Given the description of an element on the screen output the (x, y) to click on. 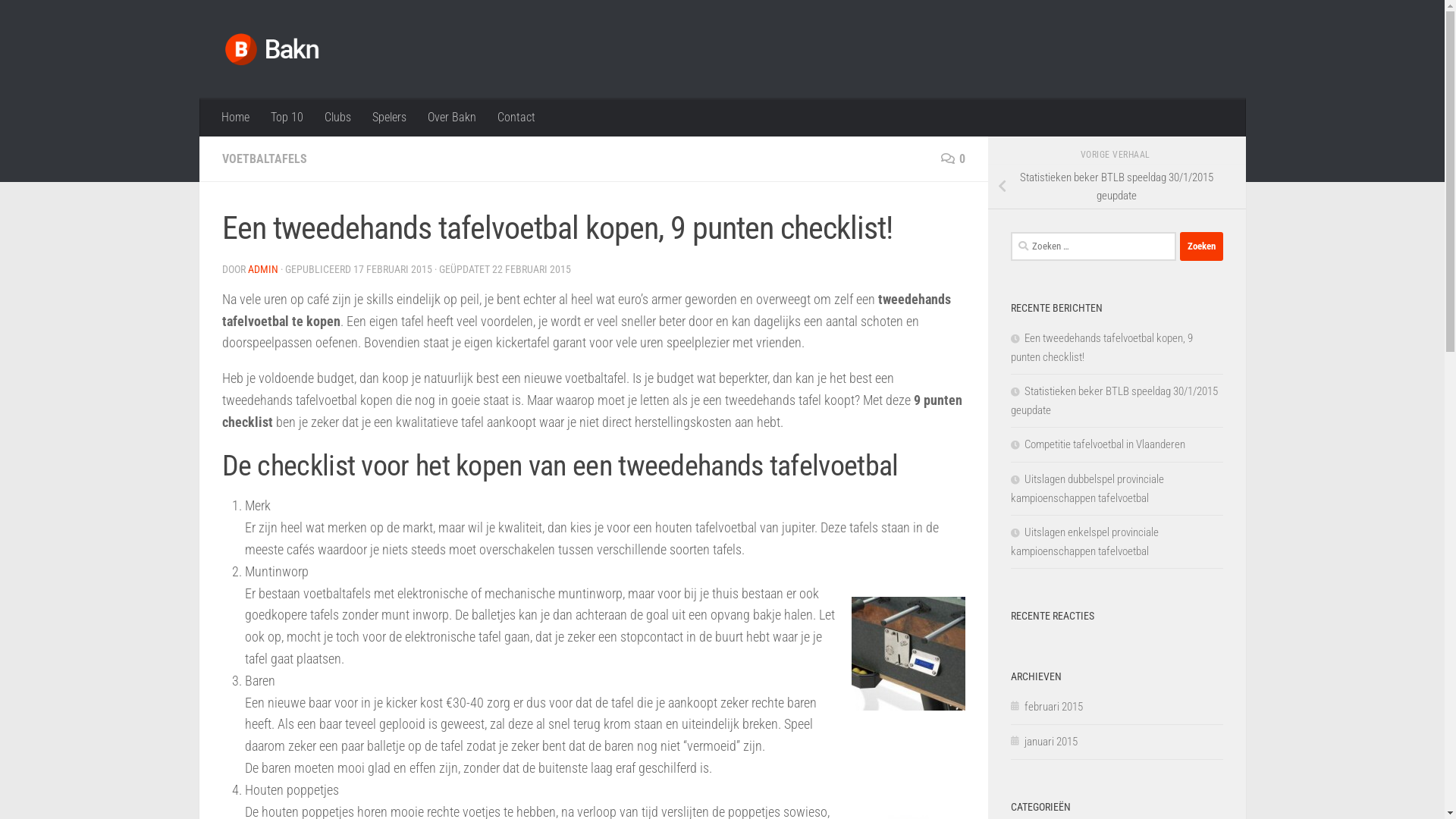
Spelers Element type: text (388, 117)
Een tweedehands tafelvoetbal kopen, 9 punten checklist! Element type: text (1101, 347)
Contact Element type: text (516, 117)
VOETBALTAFELS Element type: text (263, 158)
Home Element type: text (235, 117)
januari 2015 Element type: text (1043, 741)
Zoeken Element type: text (1201, 246)
Top 10 Element type: text (286, 117)
Bakn | Home pagina Element type: hover (271, 49)
ADMIN Element type: text (262, 269)
Statistieken beker BTLB speeldag 30/1/2015 geupdate Element type: text (1116, 186)
0 Element type: text (952, 158)
Statistieken beker BTLB speeldag 30/1/2015 geupdate Element type: text (1113, 400)
Competitie tafelvoetbal in Vlaanderen Element type: text (1097, 444)
Over Bakn Element type: text (451, 117)
Clubs Element type: text (337, 117)
februari 2015 Element type: text (1046, 706)
